Given the description of an element on the screen output the (x, y) to click on. 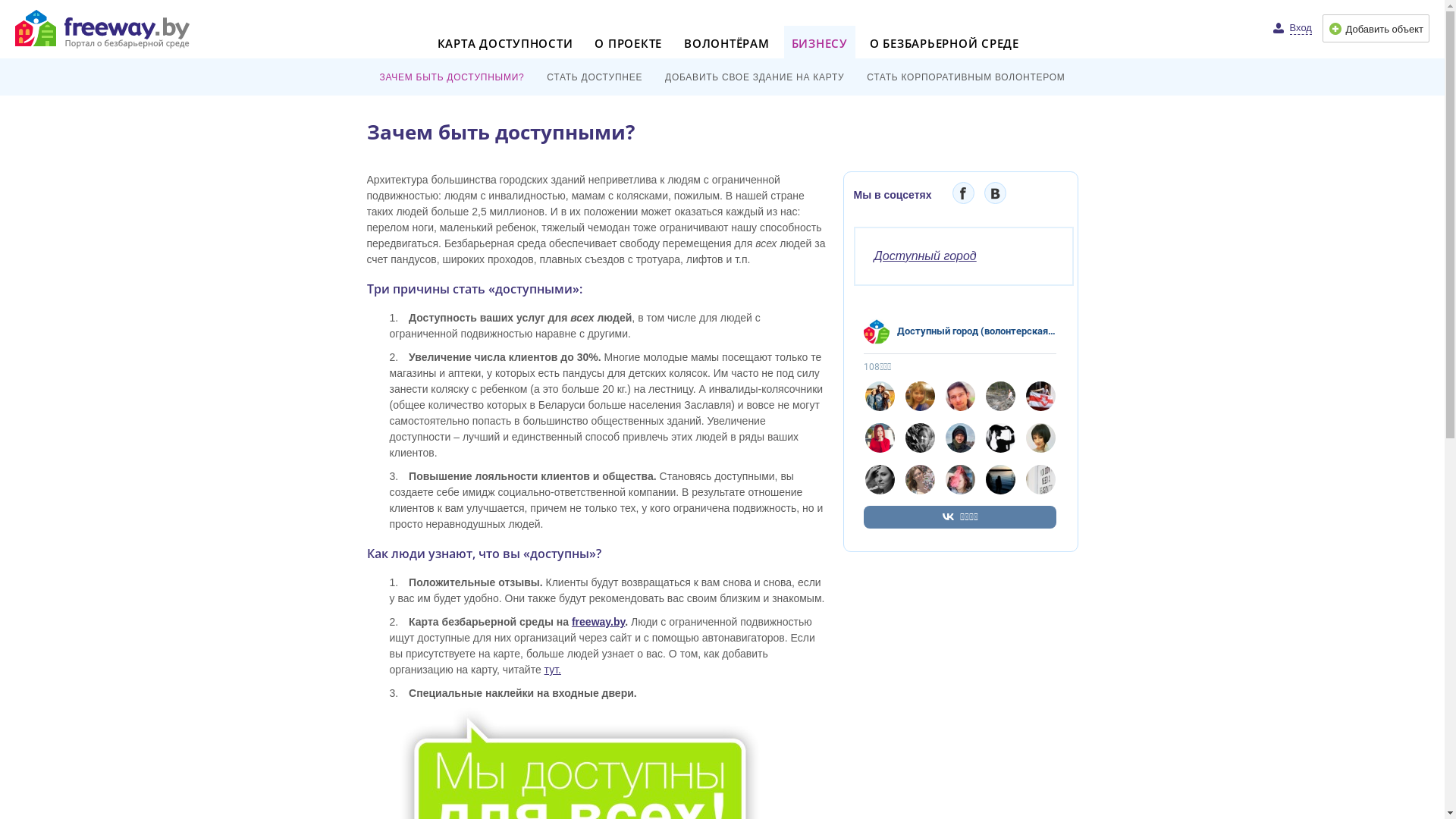
freeway.by Element type: text (597, 621)
